Given the description of an element on the screen output the (x, y) to click on. 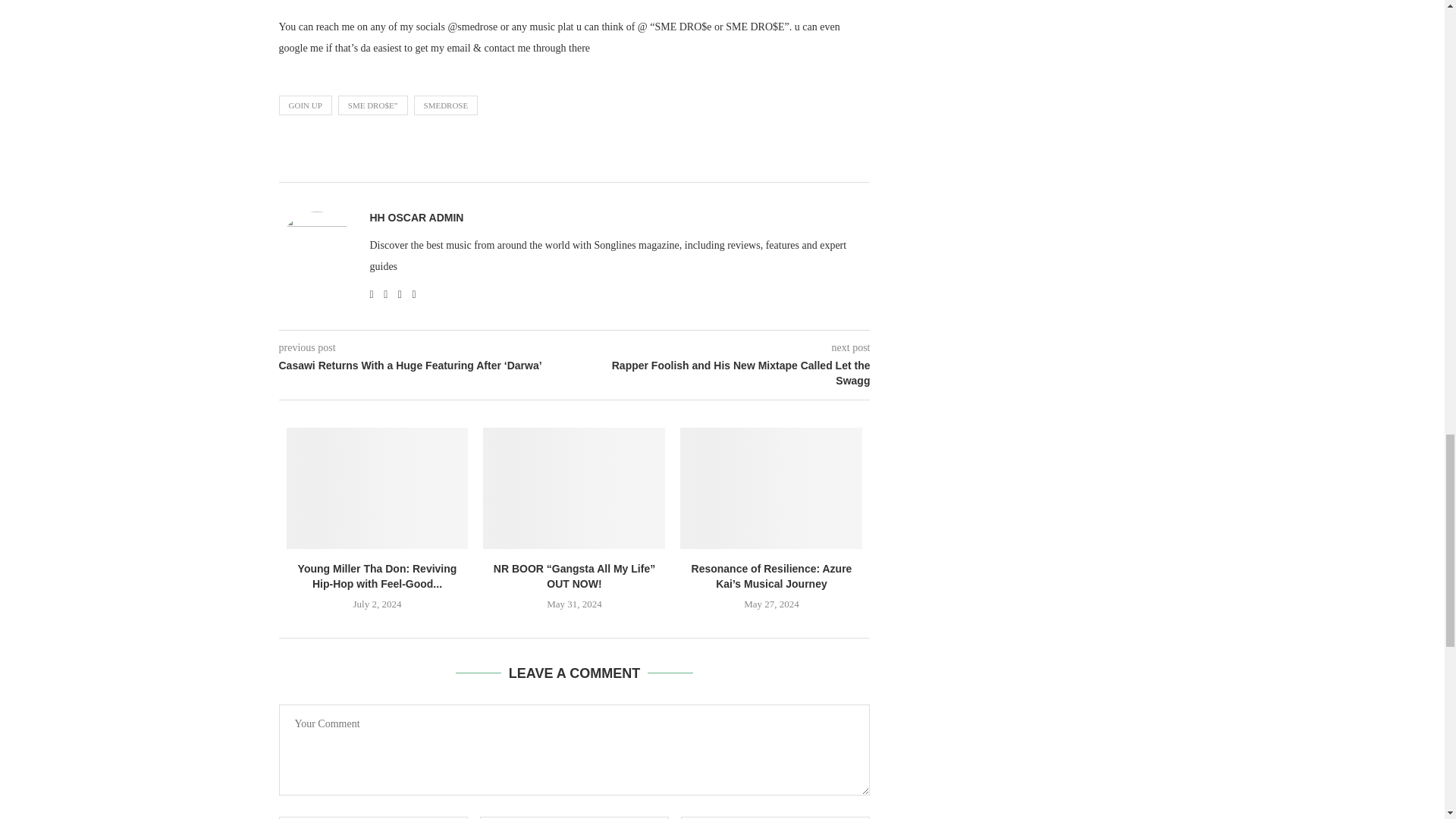
Author HH Oscar Admin (416, 217)
Rapper Foolish and His New Mixtape Called Let the Swagg (722, 373)
GOIN UP (305, 105)
HH OSCAR ADMIN (416, 217)
Young Miller Tha Don: Reviving Hip-Hop with Feel-Good... (377, 575)
SMEDROSE (446, 105)
